Given the description of an element on the screen output the (x, y) to click on. 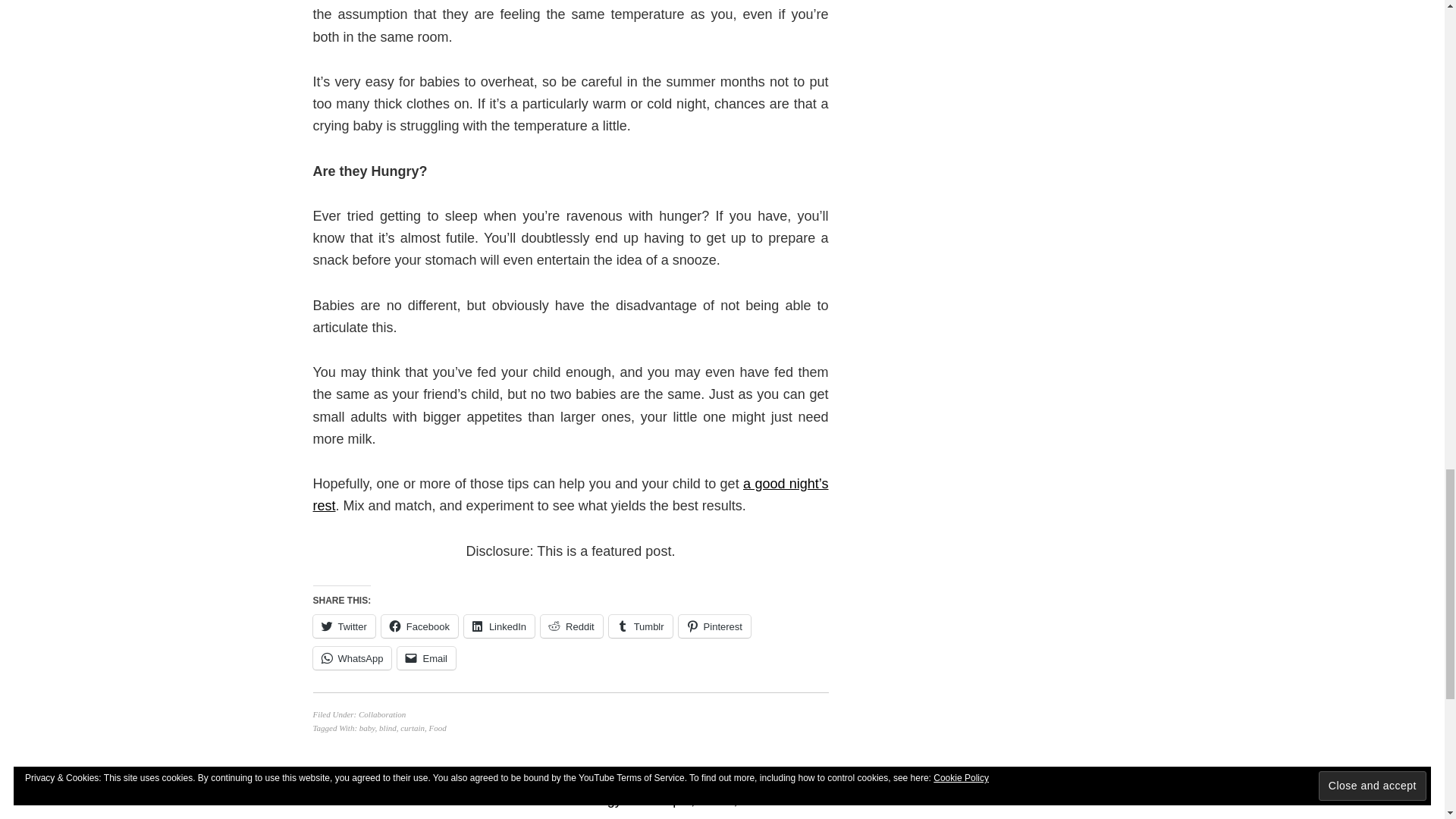
Click to share on Reddit (571, 626)
Click to share on Twitter (343, 626)
Click to share on WhatsApp (352, 658)
Click to share on Tumblr (640, 626)
Click to share on Pinterest (714, 626)
Click to share on LinkedIn (499, 626)
Click to share on Facebook (419, 626)
Click to email a link to a friend (426, 658)
